Given the description of an element on the screen output the (x, y) to click on. 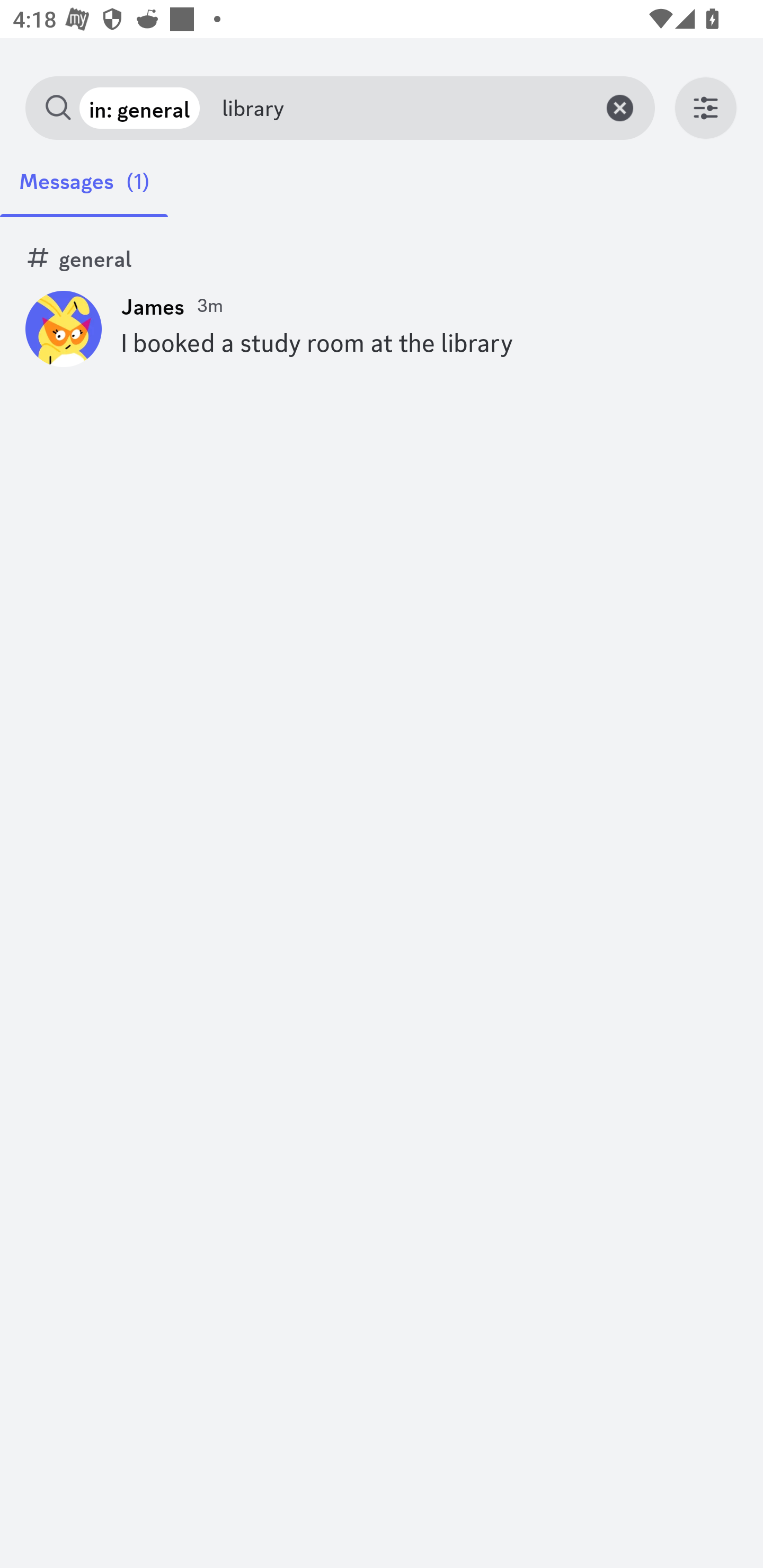
Search Filters (705, 107)
Clear search (622, 107)
in: general, remove in: general (139, 107)
library Search (400, 107)
Messages, (1) Messages (1) (83, 190)
